Given the description of an element on the screen output the (x, y) to click on. 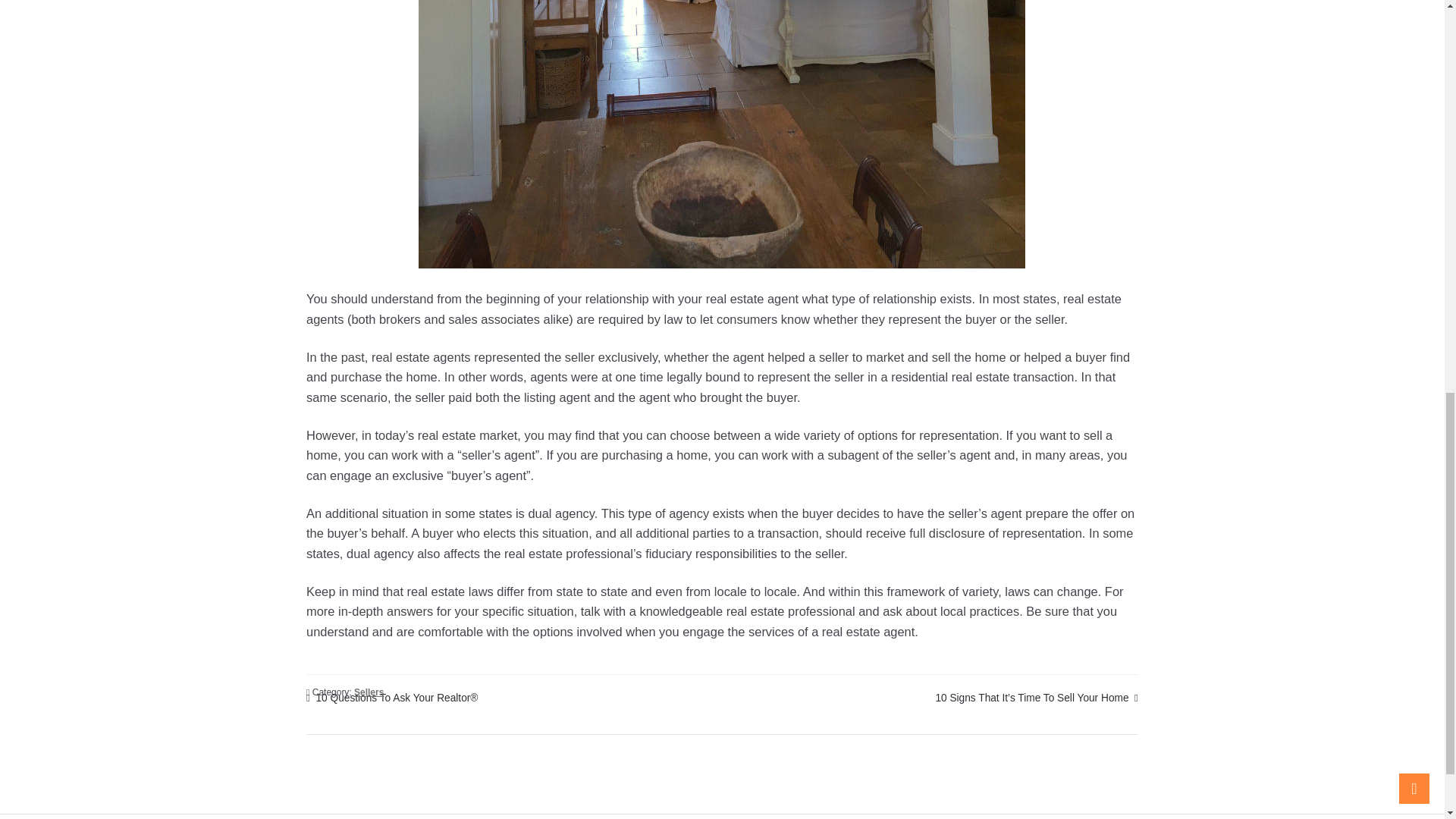
Sellers (368, 692)
